Given the description of an element on the screen output the (x, y) to click on. 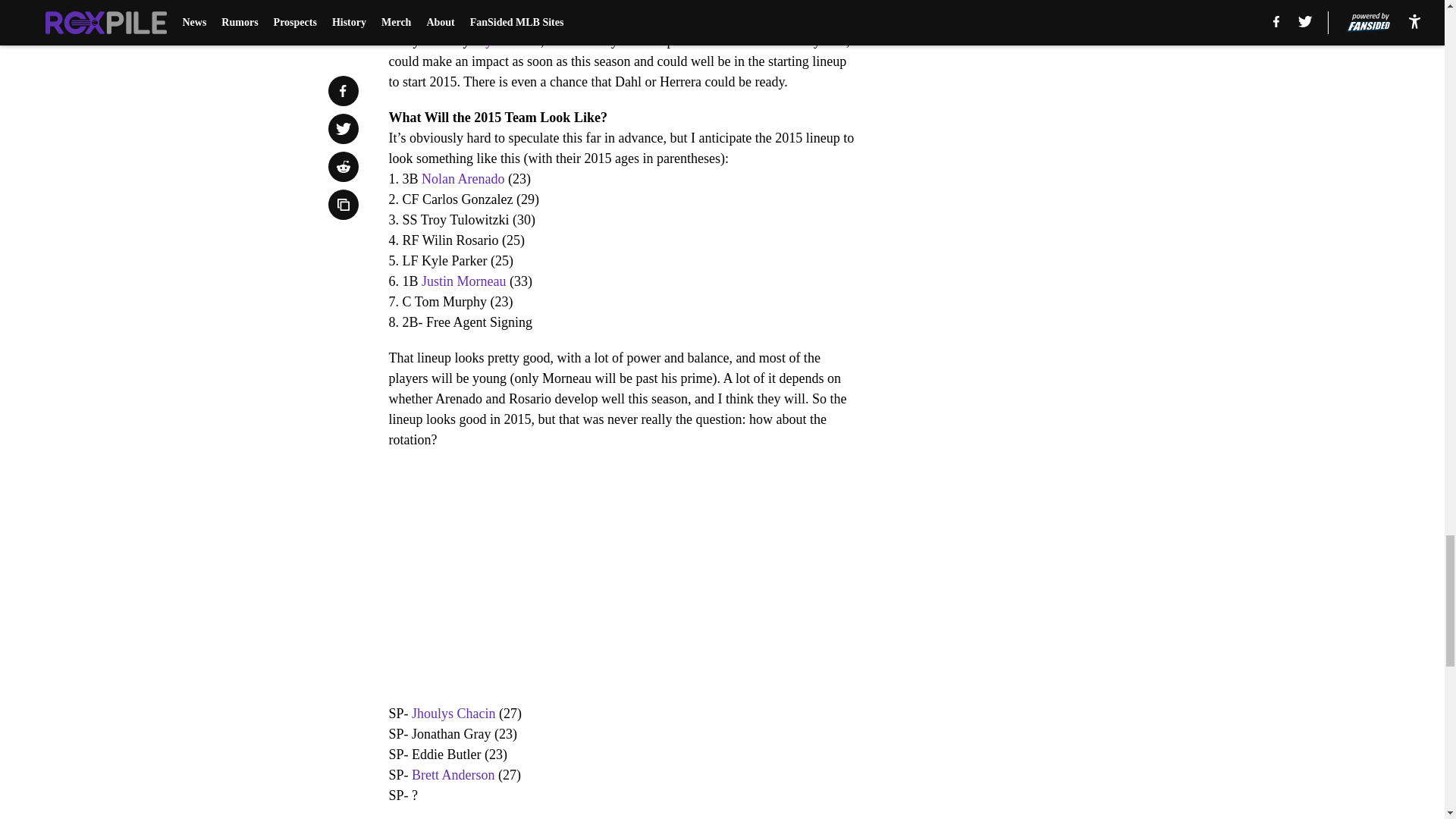
Tom Murphy (665, 3)
Kyle Parker (508, 40)
Wilin Rosario (505, 20)
